Given the description of an element on the screen output the (x, y) to click on. 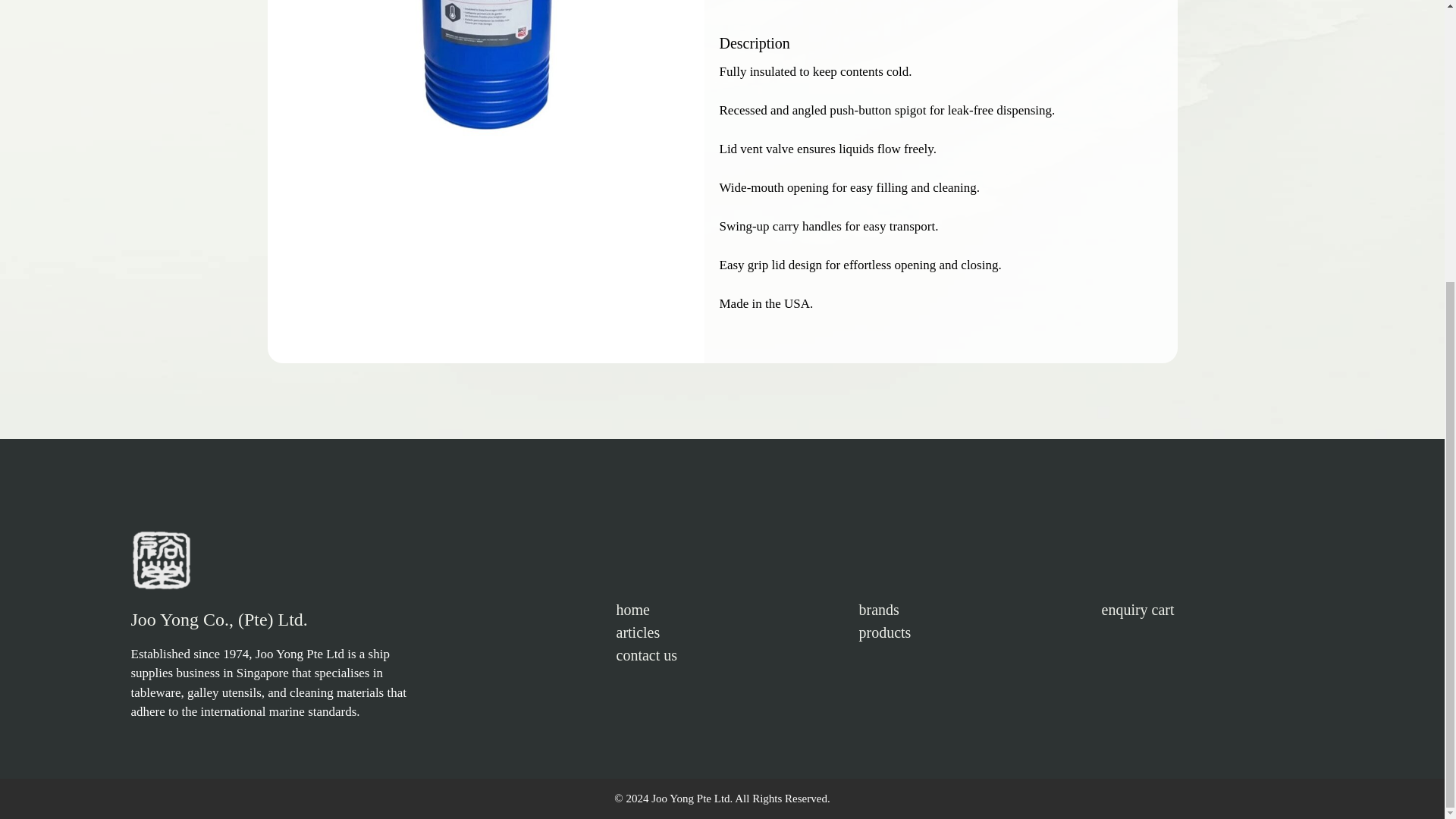
articles (637, 632)
brands (878, 609)
171236G IGLOO 0.5Gal LEGEND COOLER with SPOUT - 31297 (492, 83)
products (885, 632)
home (632, 609)
enquiry cart (1136, 609)
contact us (646, 655)
articles (637, 632)
home (632, 609)
